Given the description of an element on the screen output the (x, y) to click on. 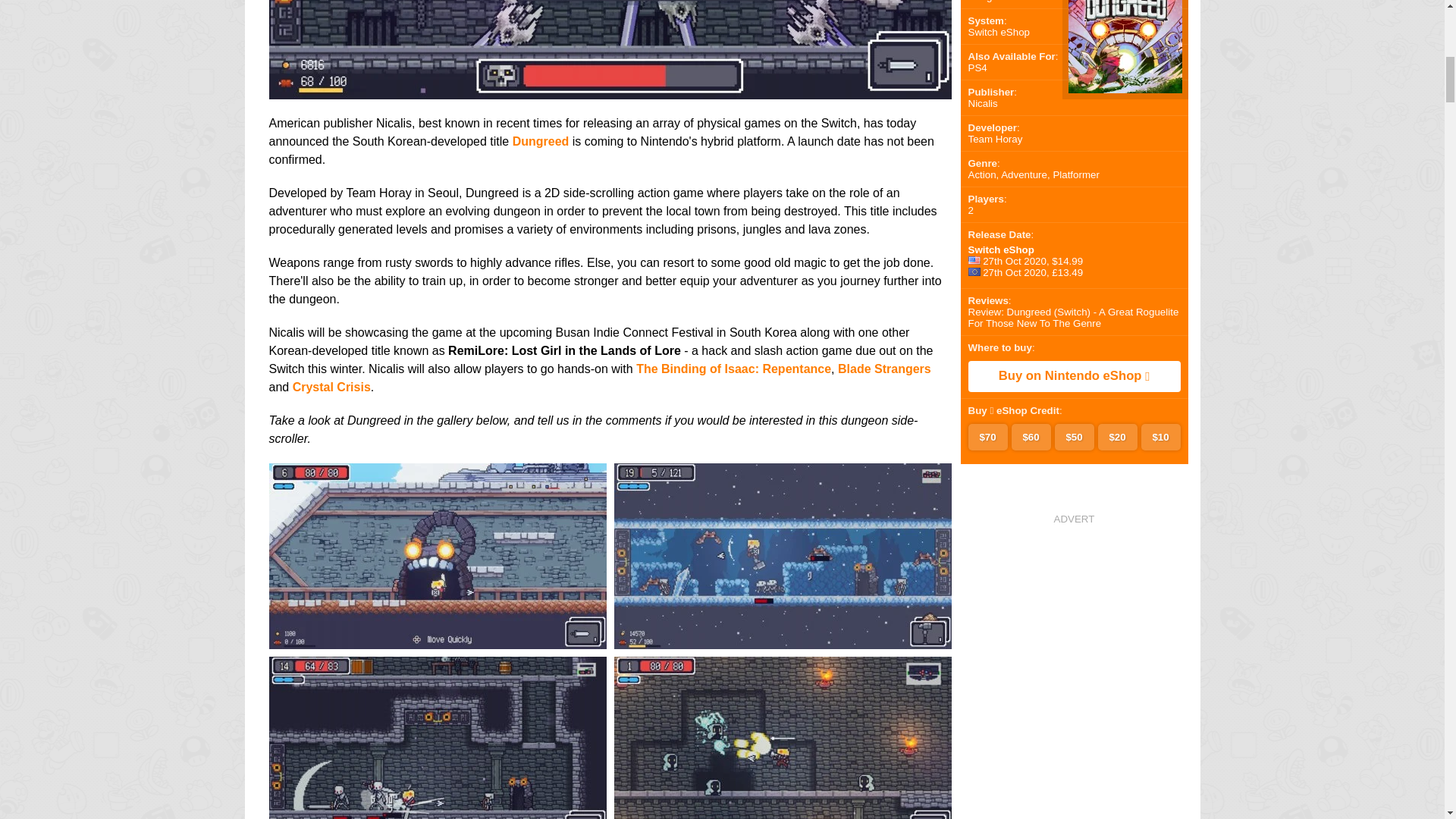
Dungreed Screen 005 (608, 89)
